Given the description of an element on the screen output the (x, y) to click on. 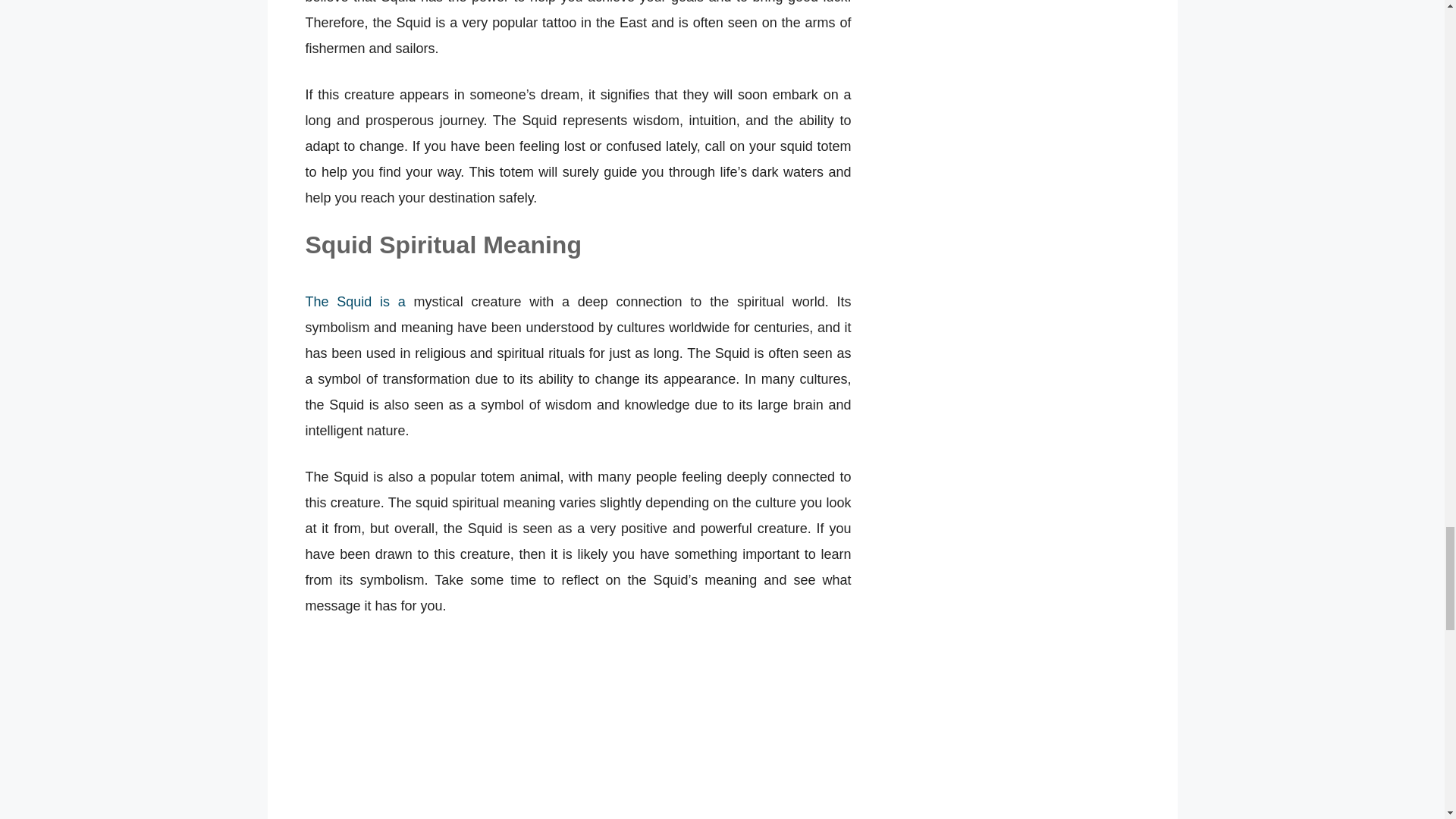
The Squid is a (354, 301)
